Given the description of an element on the screen output the (x, y) to click on. 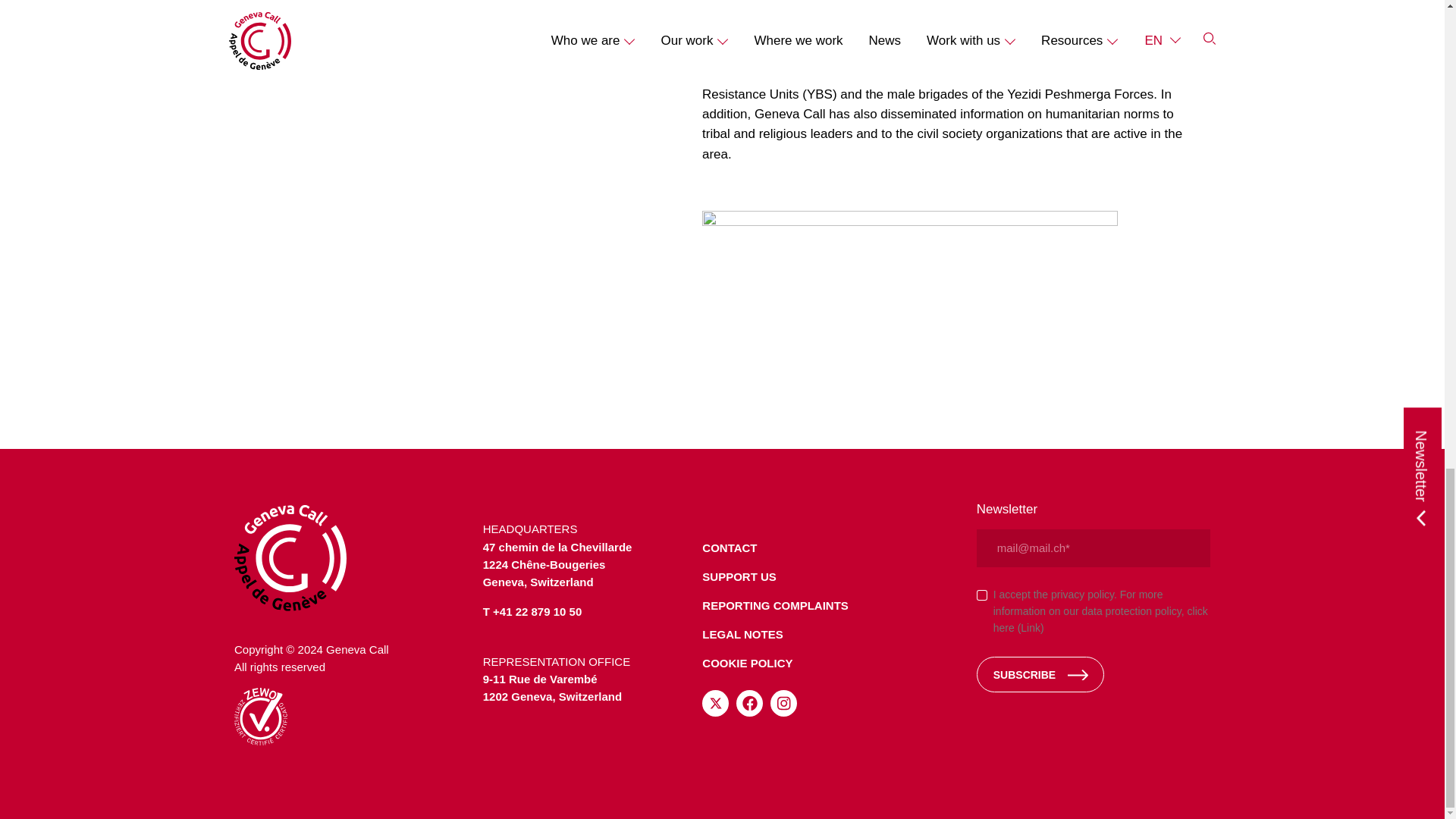
Geneva Call (350, 557)
